Given the description of an element on the screen output the (x, y) to click on. 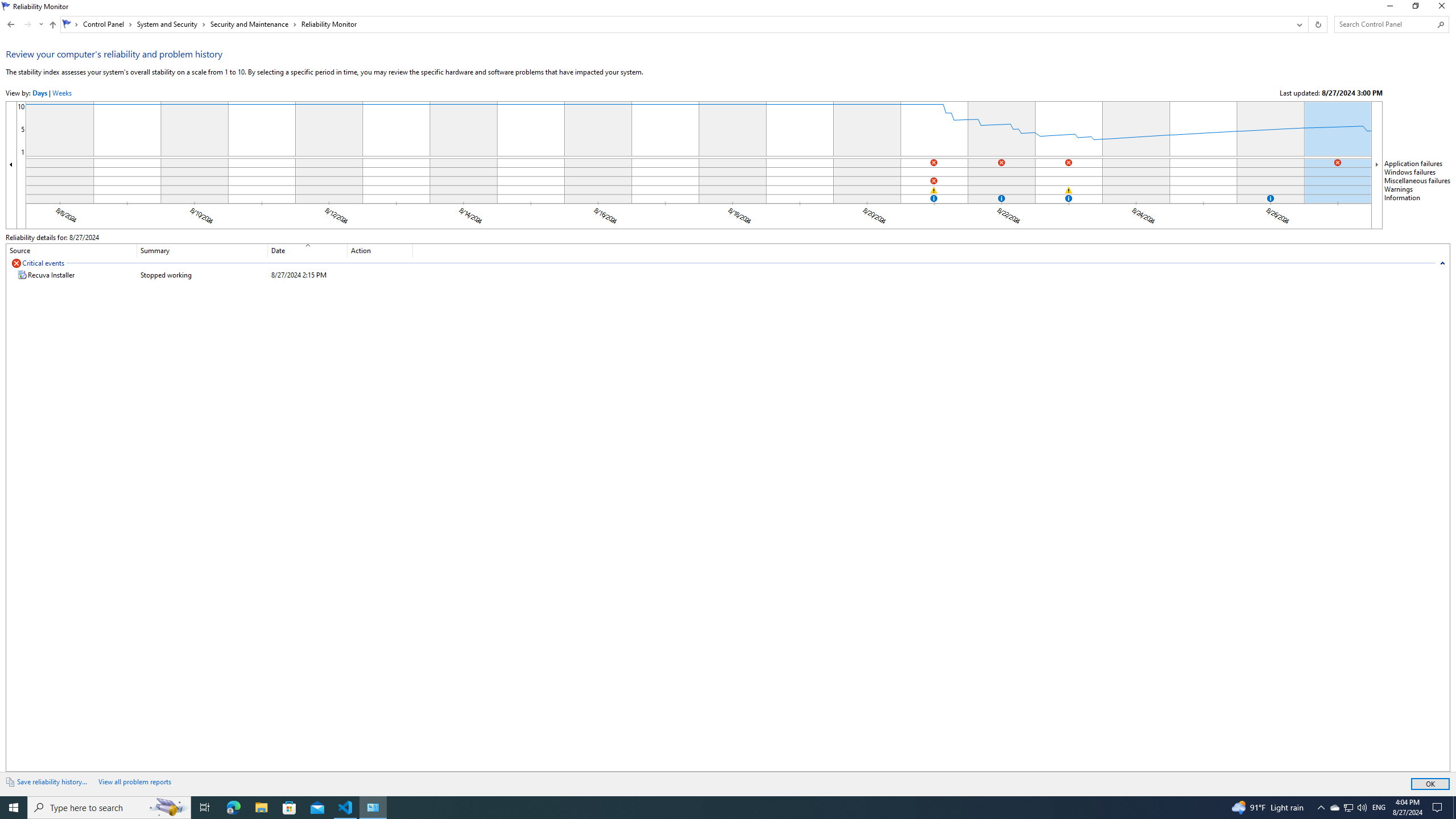
Security and Maintenance (253, 23)
Minimize (1388, 8)
Search (1441, 24)
Up to "Security and Maintenance" (Alt + Up Arrow) (52, 24)
